Given the description of an element on the screen output the (x, y) to click on. 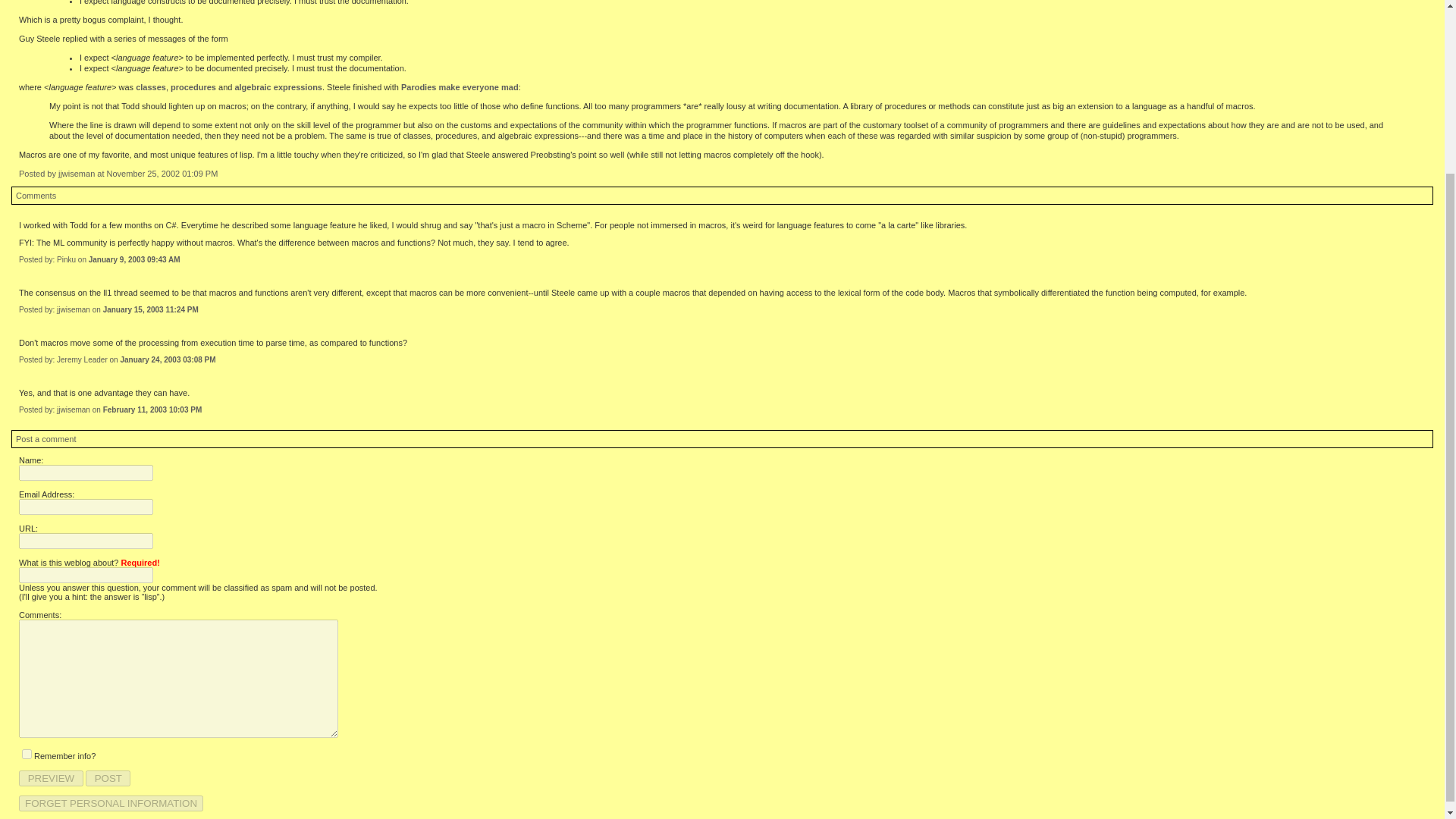
classes (150, 86)
procedures (192, 86)
January 24, 2003 03:08 PM (167, 359)
on (26, 754)
FORGET PERSONAL INFORMATION (110, 803)
February 11, 2003 10:03 PM (152, 409)
Parodies make everyone mad (459, 86)
January 15, 2003 11:24 PM (150, 309)
algebraic expressions (277, 86)
January 9, 2003 09:43 AM (134, 259)
